Given the description of an element on the screen output the (x, y) to click on. 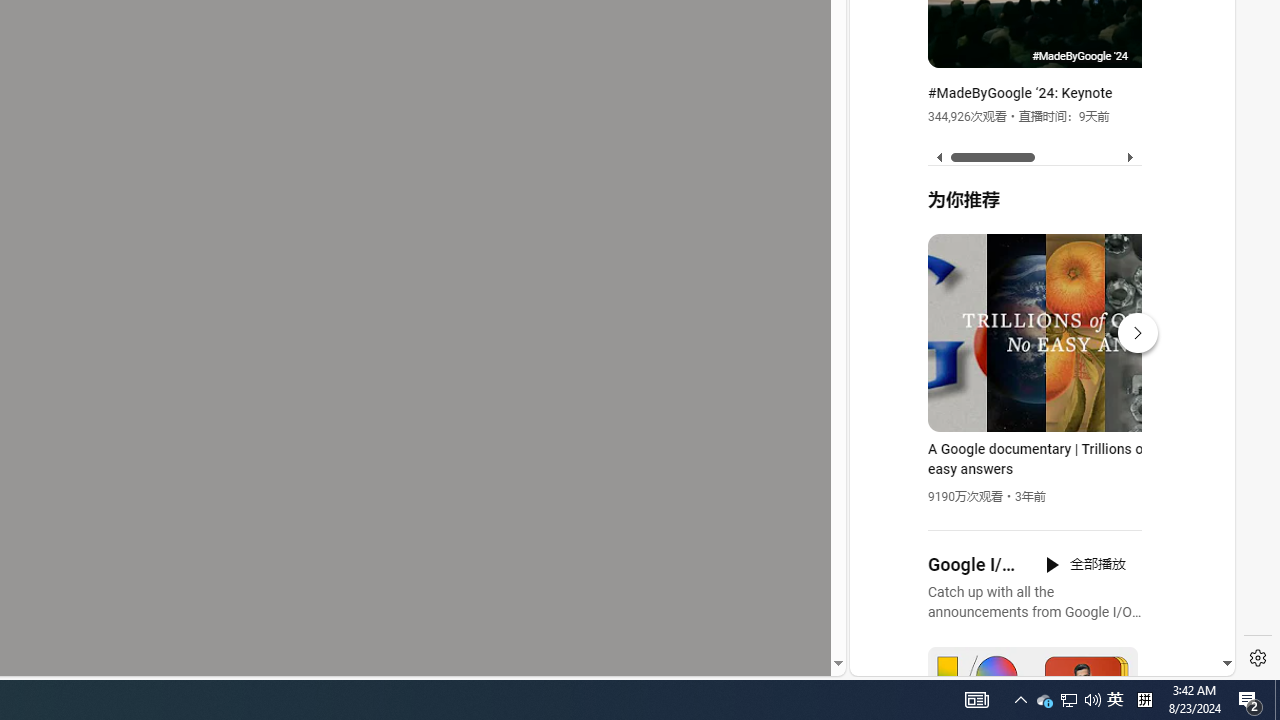
YouTube (1034, 432)
YouTube - YouTube (1034, 266)
you (1034, 609)
#you (1034, 439)
Actions for this site (1131, 443)
MadeByGoogle '24: Intro (1166, 49)
